Given the description of an element on the screen output the (x, y) to click on. 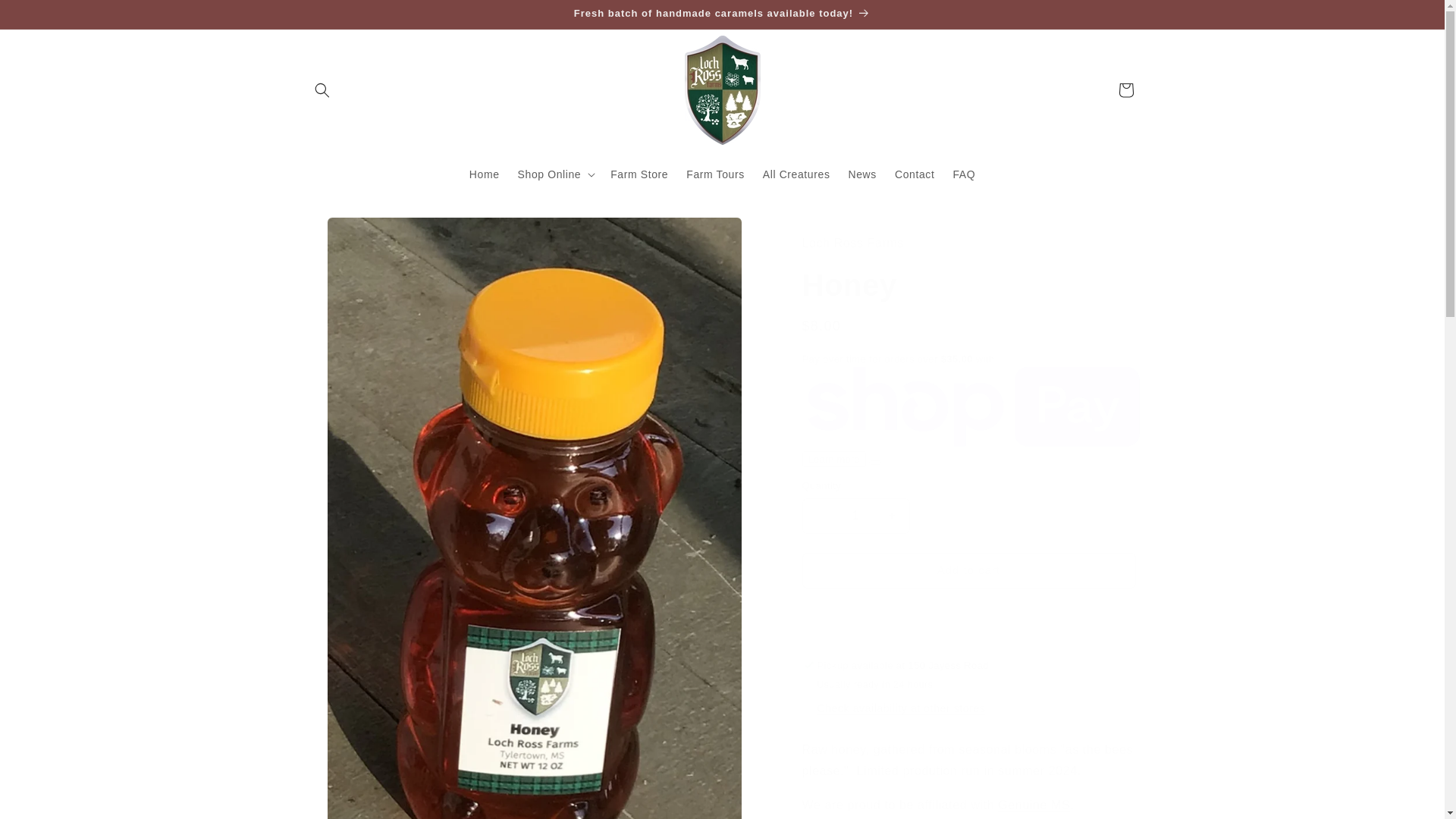
Skip to content (45, 17)
All Creatures (797, 173)
Genuine MS (1033, 804)
News (861, 173)
Cart (1124, 89)
Fresh batch of handmade caramels available today! (721, 14)
Farm Store (639, 173)
1 (856, 515)
Contact (914, 173)
FAQ (963, 173)
